Given the description of an element on the screen output the (x, y) to click on. 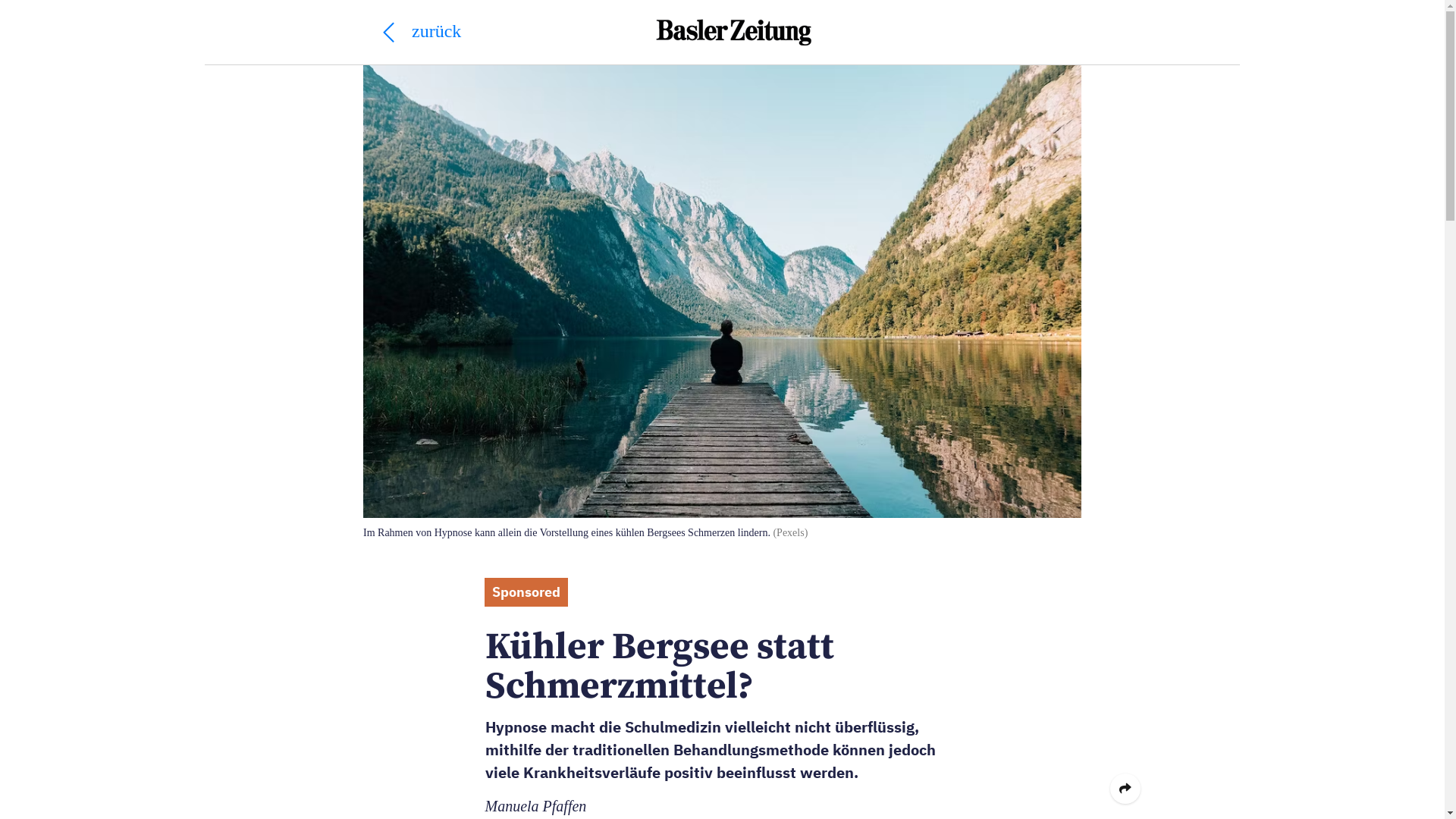
Basler Zeitung Element type: hover (733, 31)
